Given the description of an element on the screen output the (x, y) to click on. 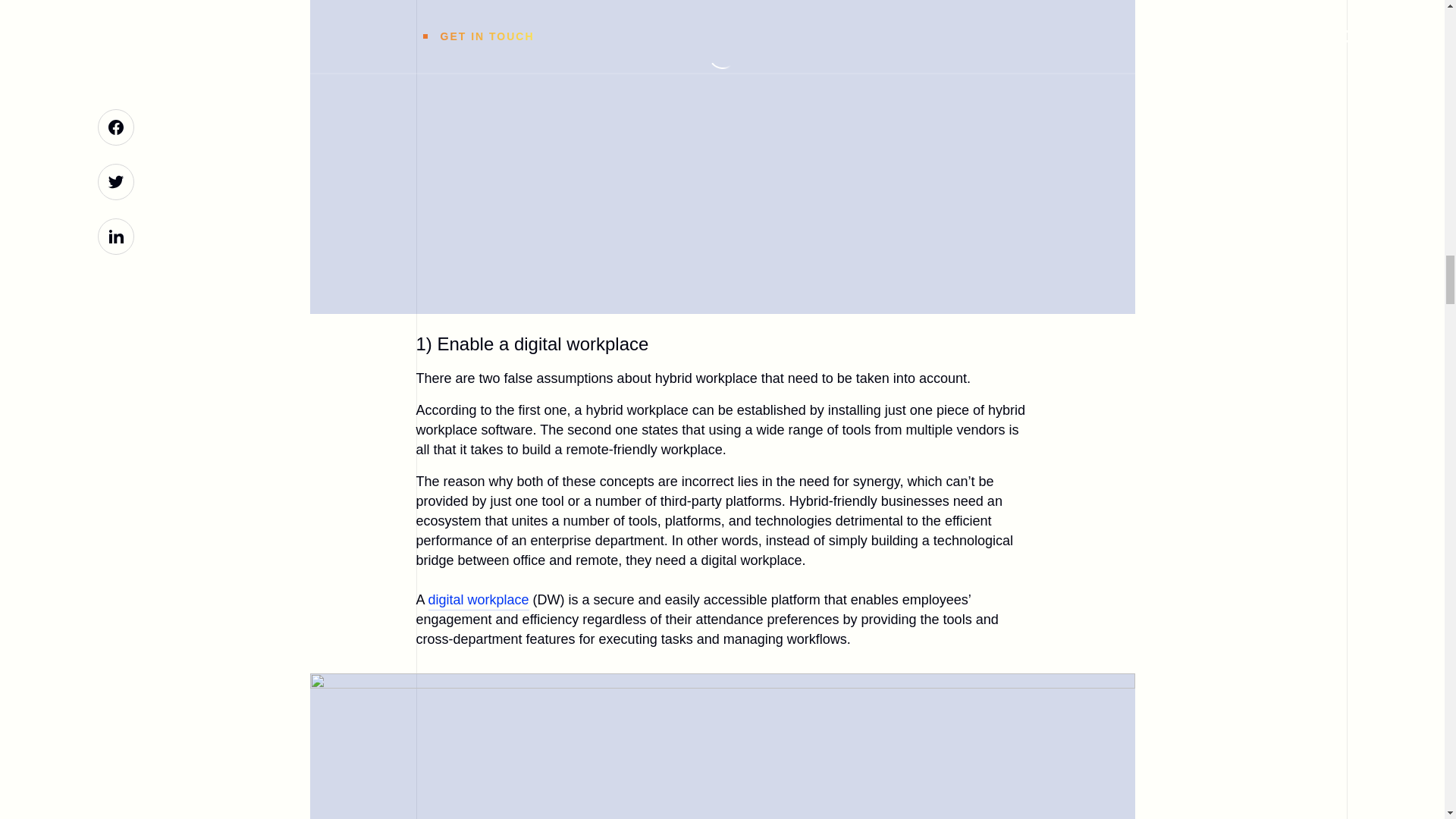
digital workplace (478, 601)
